Given the description of an element on the screen output the (x, y) to click on. 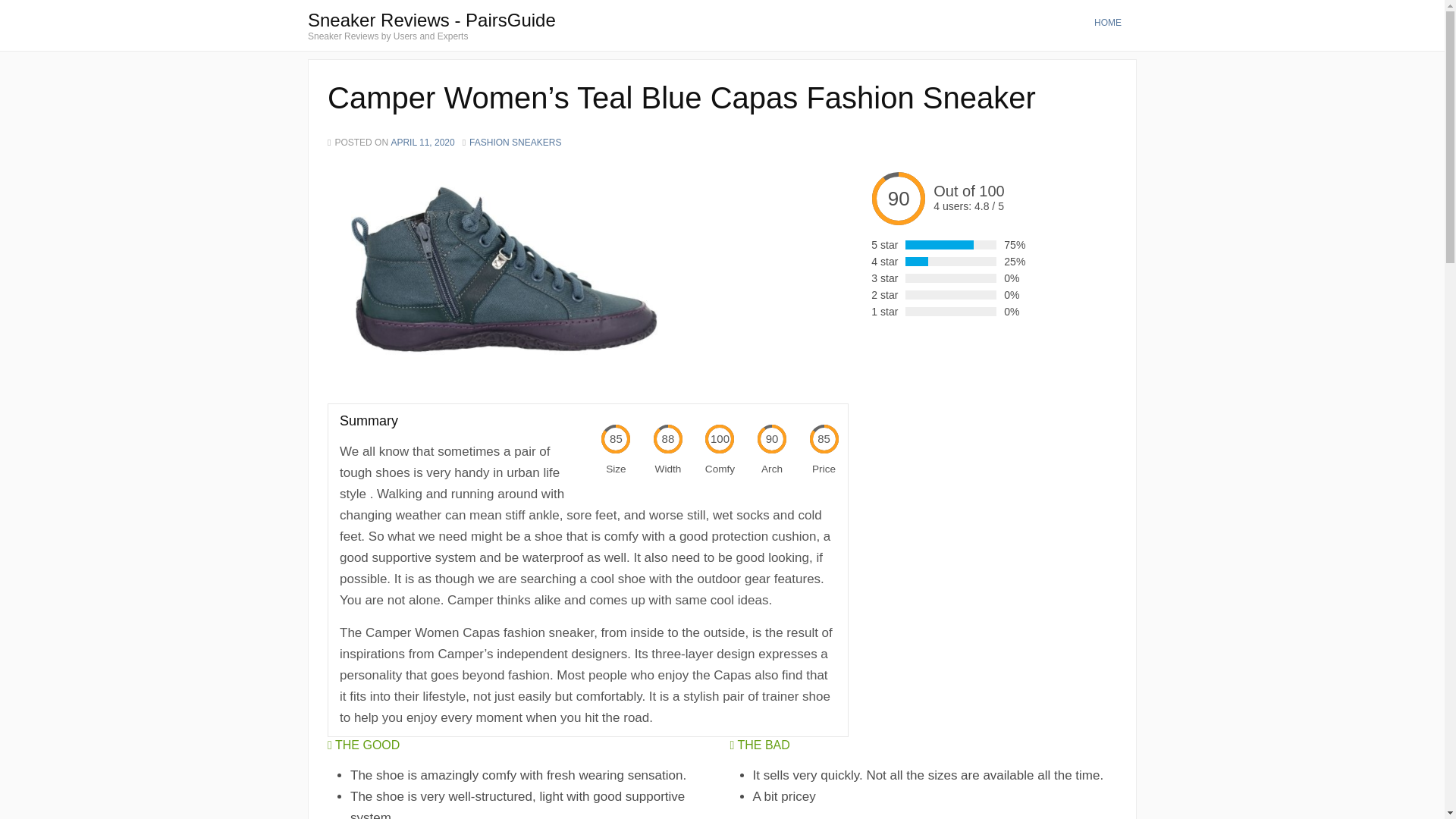
Sneaker Reviews - PairsGuide (431, 19)
HOME (1107, 22)
FASHION SNEAKERS (514, 142)
